Given the description of an element on the screen output the (x, y) to click on. 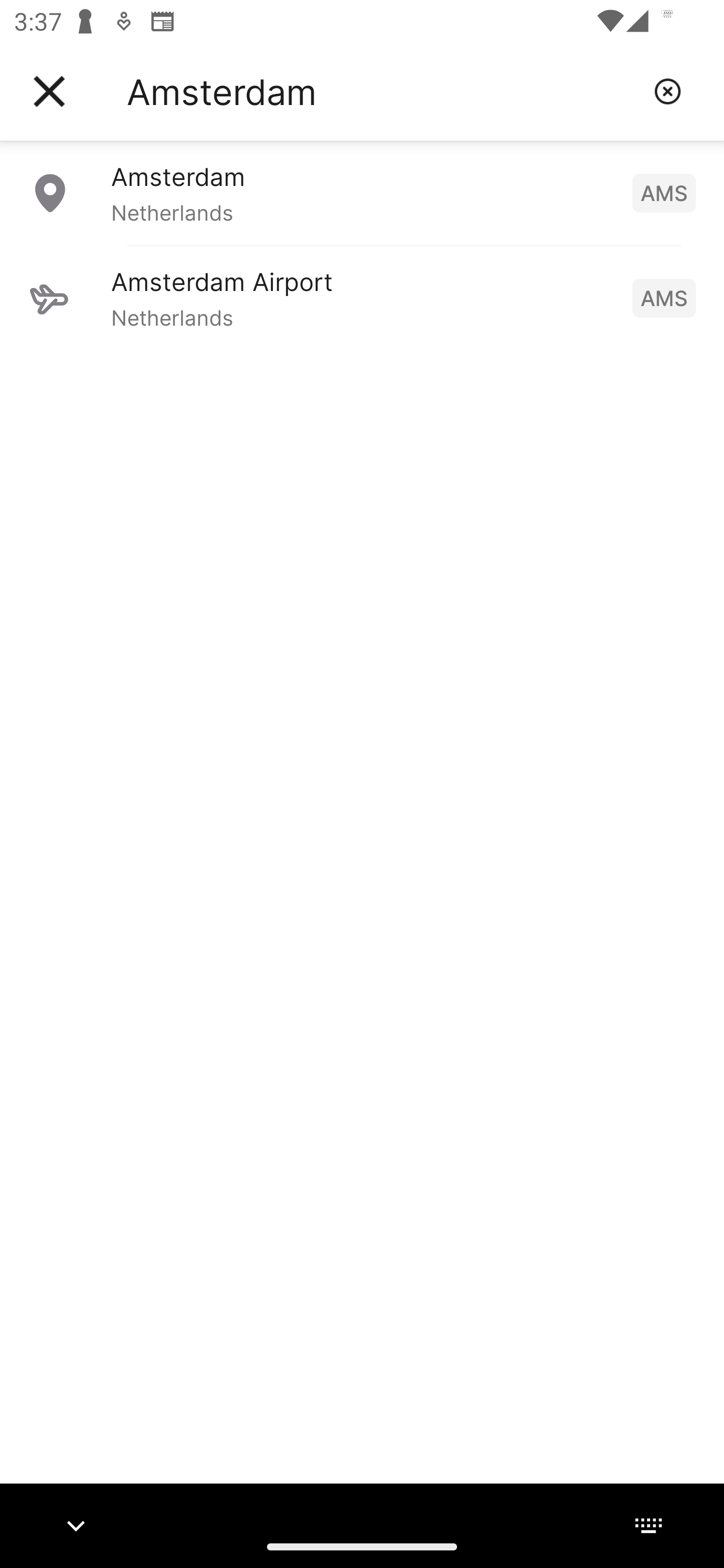
Amsterdam (382, 91)
Amsterdam Netherlands AMS (362, 192)
Amsterdam Airport Netherlands AMS (362, 297)
